Given the description of an element on the screen output the (x, y) to click on. 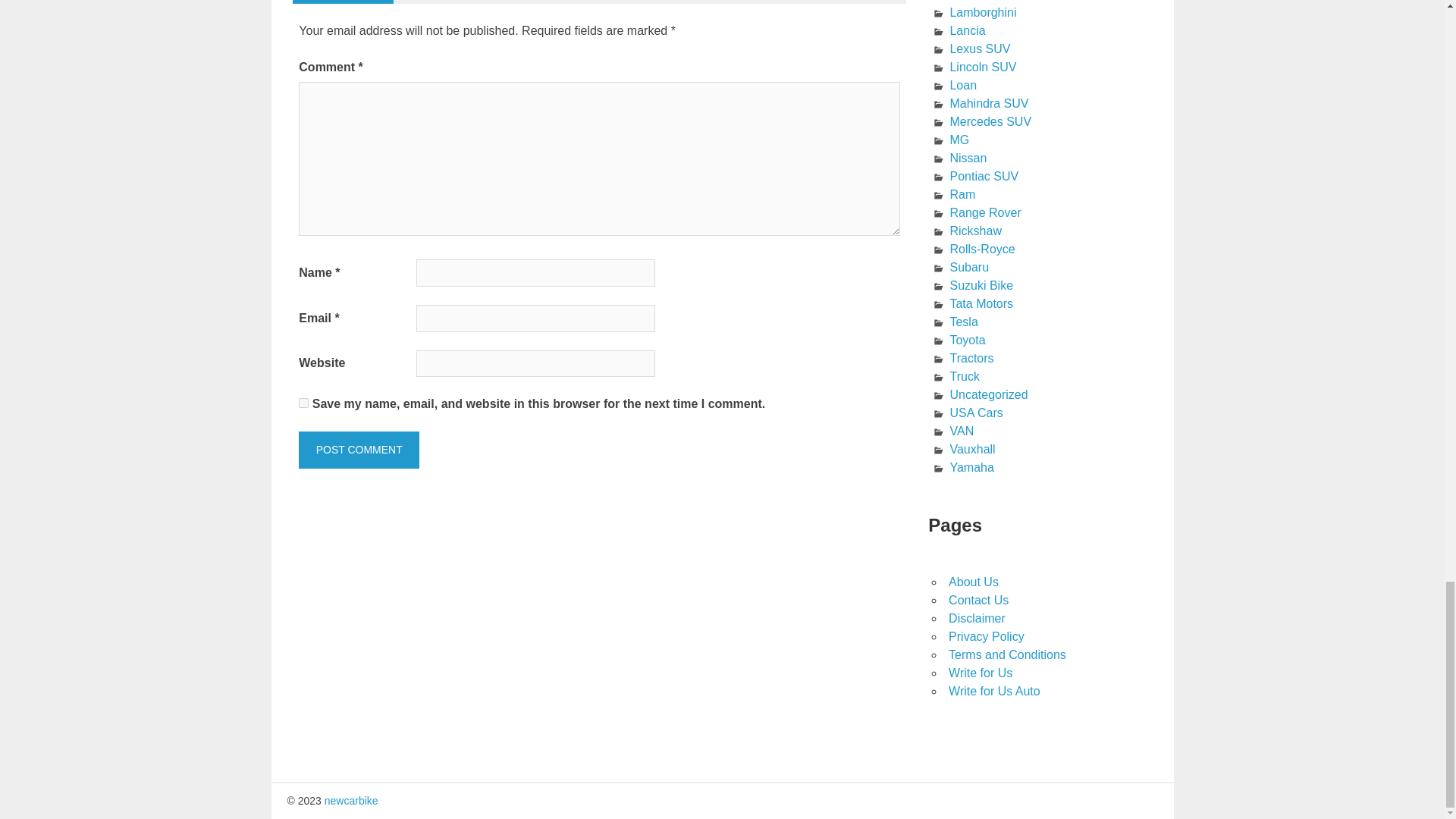
yes (303, 402)
Post Comment (358, 449)
Post Comment (358, 449)
